Given the description of an element on the screen output the (x, y) to click on. 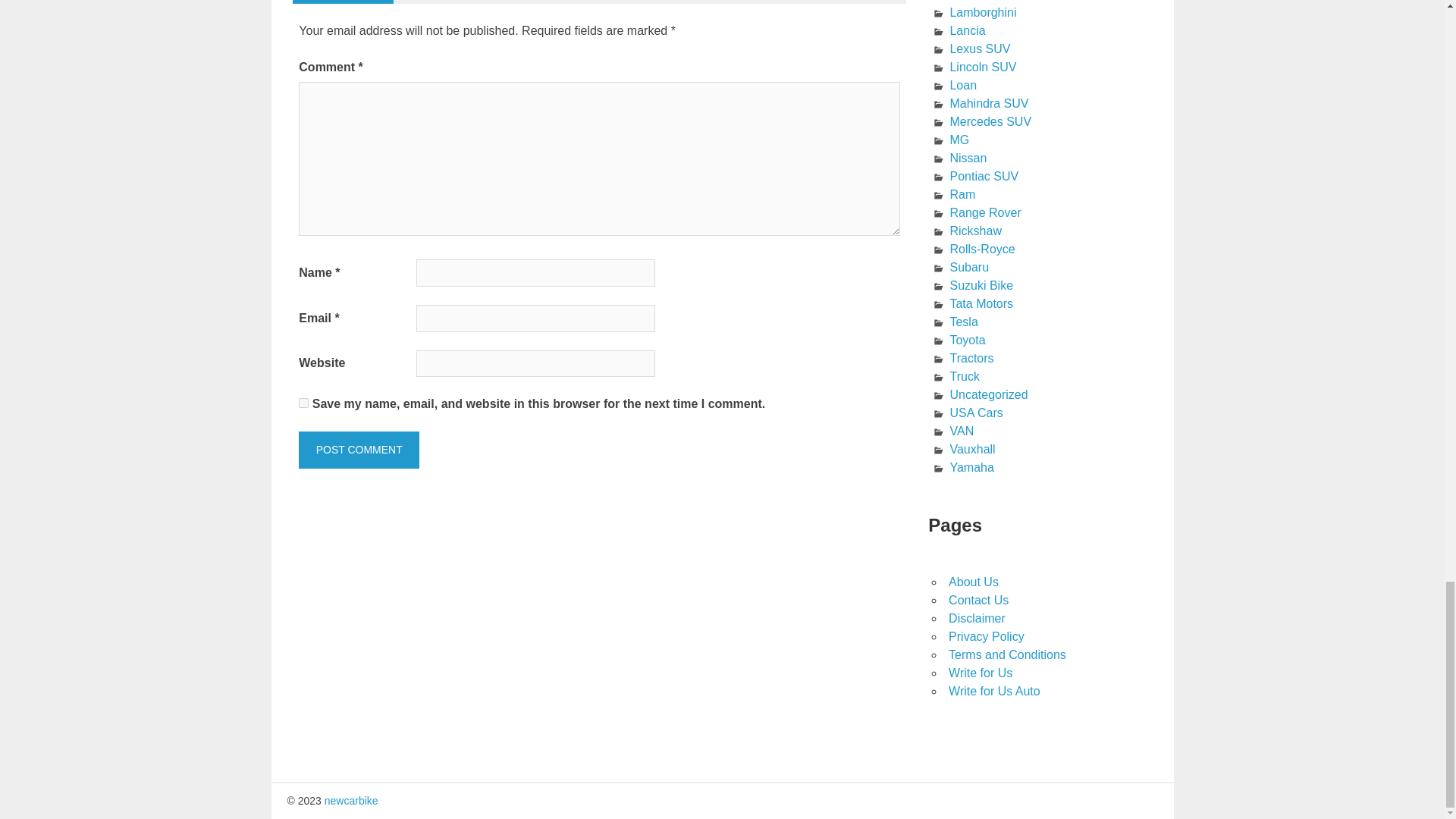
yes (303, 402)
Post Comment (358, 449)
Post Comment (358, 449)
